Given the description of an element on the screen output the (x, y) to click on. 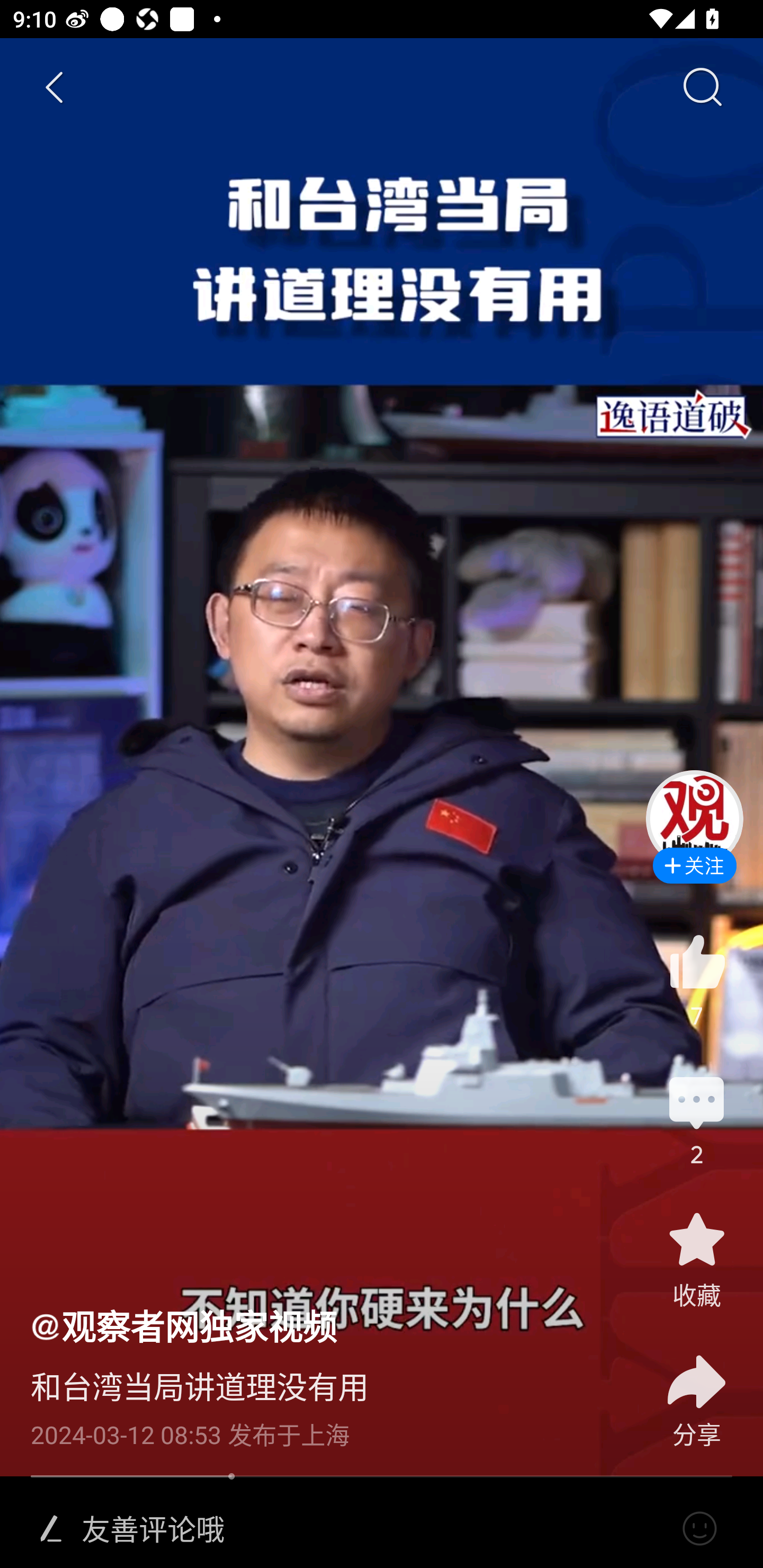
 返回 (54, 87)
 搜索 (701, 87)
赞 7 (696, 979)
评论  2 (696, 1118)
收藏 (696, 1258)
观察者网独家视频 (183, 1325)
分享  分享 (696, 1389)
和台湾当局讲道理没有用 2024-03-12 08:53 发布于上海 (321, 1399)
友善评论哦 发表评论 (373, 1529)
 (50, 1528)
 (699, 1528)
